Given the description of an element on the screen output the (x, y) to click on. 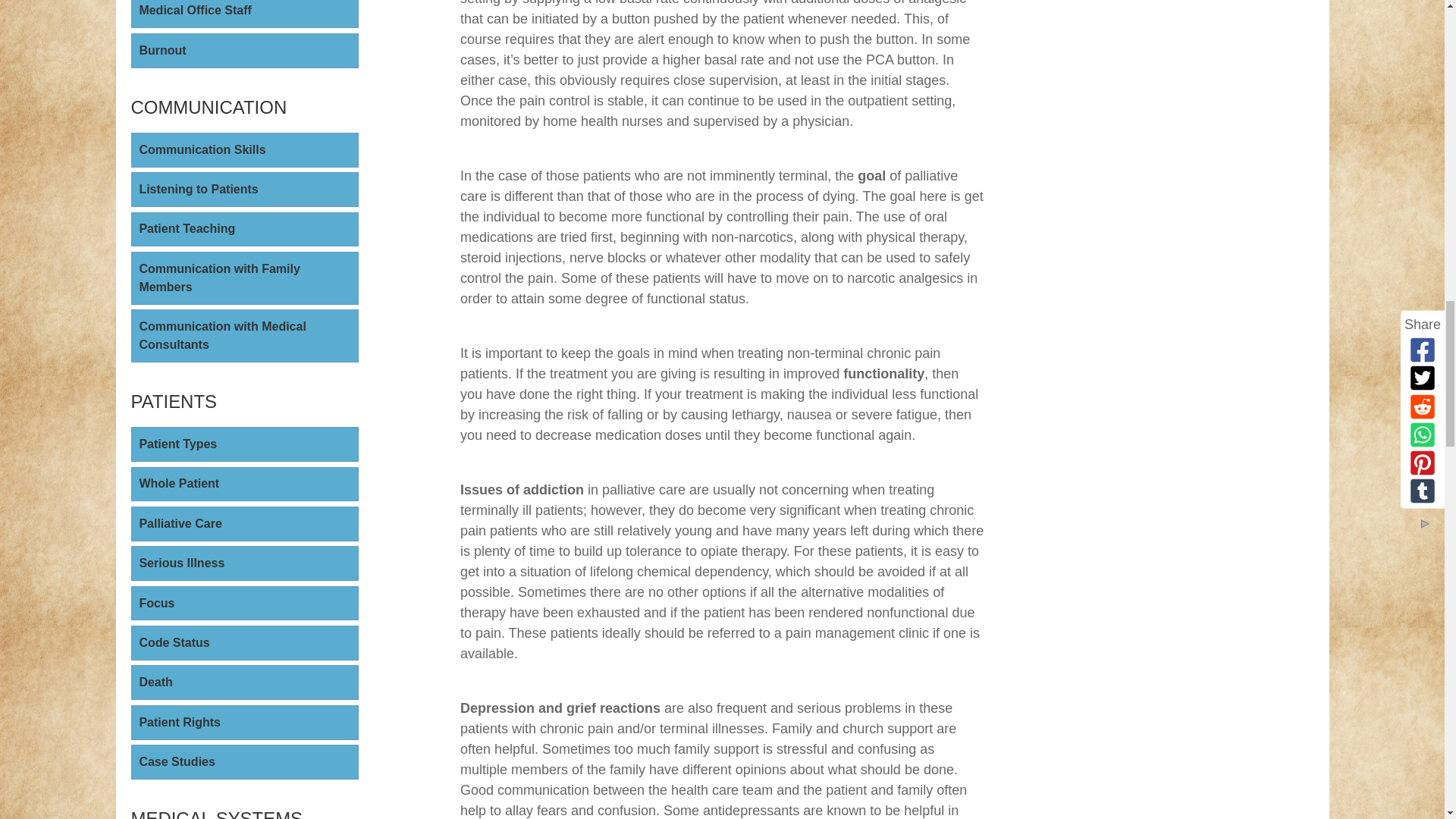
Serious Illness (244, 563)
Burnout (244, 50)
Patient Rights (244, 722)
Case Studies (244, 761)
Death (244, 682)
Communication with Medical Consultants (244, 335)
Code Status (244, 642)
Medical Office Staff (244, 13)
Whole Patient (244, 484)
Communication Skills (244, 149)
